Given the description of an element on the screen output the (x, y) to click on. 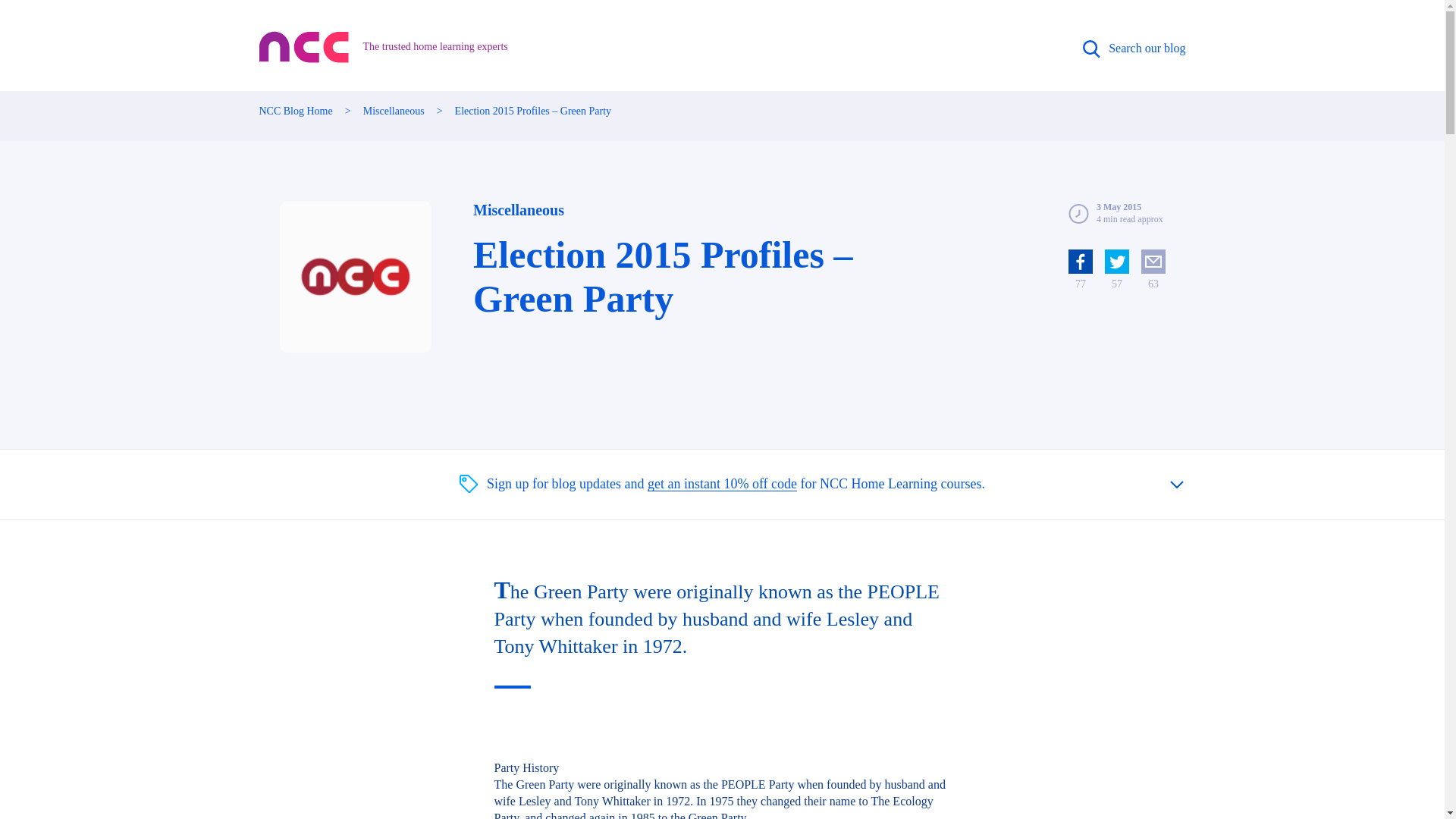
Miscellaneous (518, 209)
NCC Blog Home (296, 111)
Miscellaneous (393, 111)
NCC Home Learning (304, 47)
